Given the description of an element on the screen output the (x, y) to click on. 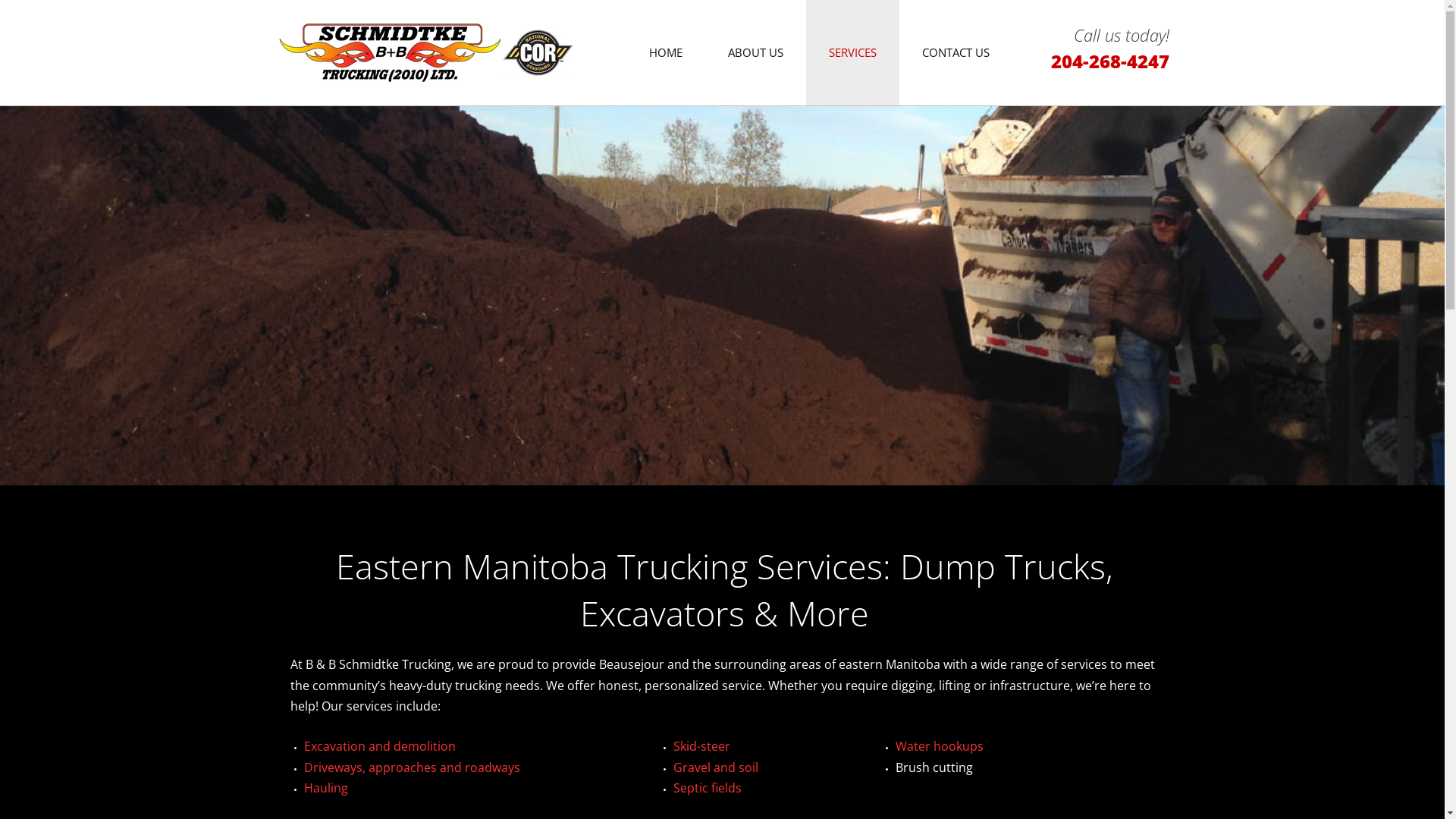
CONTACT US Element type: text (955, 52)
Driveways, approaches and roadways Element type: text (411, 767)
Water hookups Element type: text (938, 745)
Excavation and demolition Element type: text (379, 745)
204-268-4247 Element type: text (1110, 64)
Septic fields Element type: text (707, 787)
SERVICES Element type: text (851, 52)
ABOUT US Element type: text (755, 52)
Gravel and soil Element type: text (715, 767)
HOME Element type: text (665, 52)
Hauling Element type: text (325, 787)
Skid-steer Element type: text (701, 745)
